Given the description of an element on the screen output the (x, y) to click on. 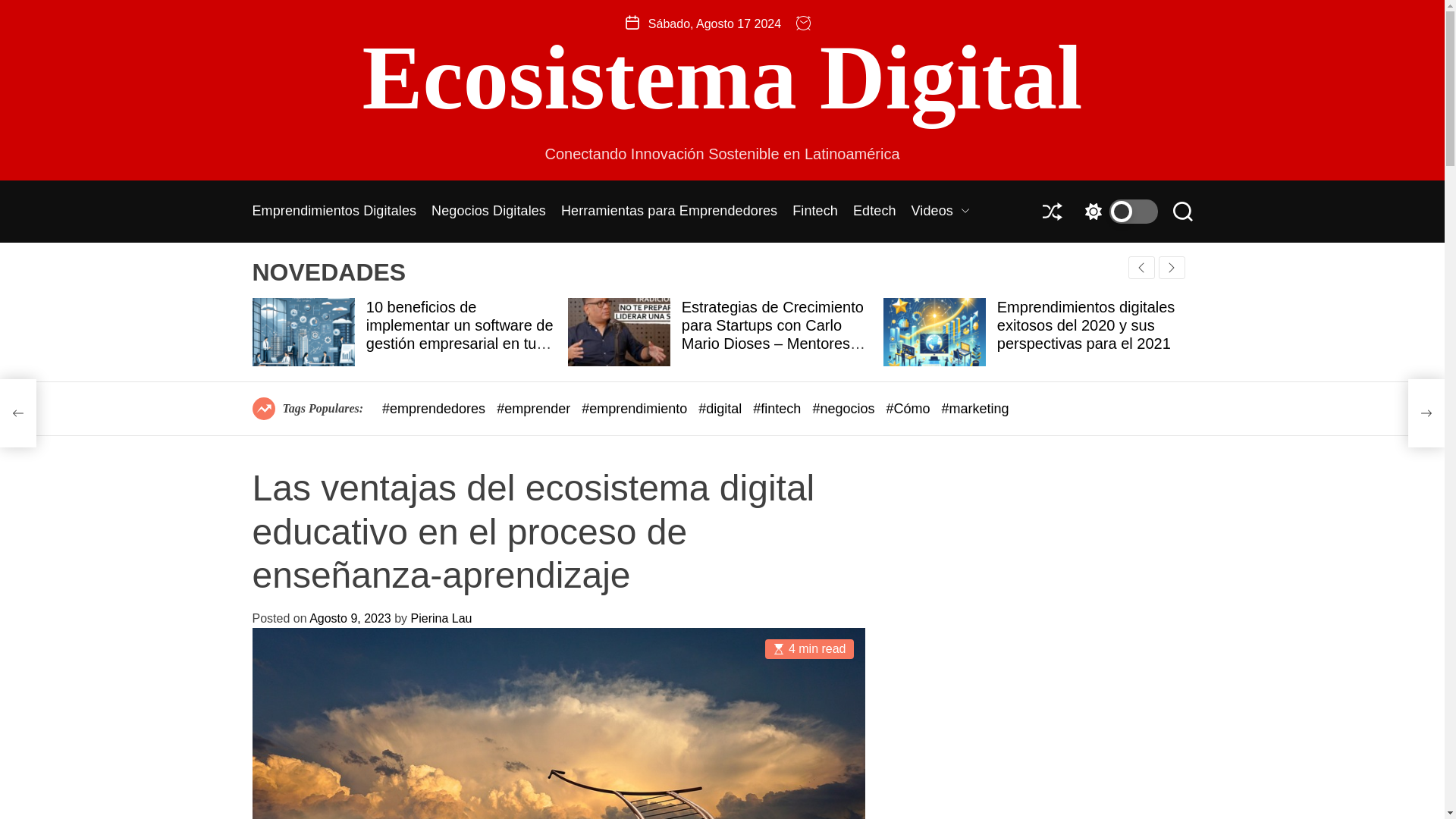
Herramientas para Emprendedores (668, 211)
Edtech (874, 211)
Videos (940, 211)
Switch color mode (1117, 211)
Ecosistema Digital (722, 77)
Emprendimientos Digitales (333, 211)
Negocios Digitales (488, 211)
Fintech (815, 211)
